Given the description of an element on the screen output the (x, y) to click on. 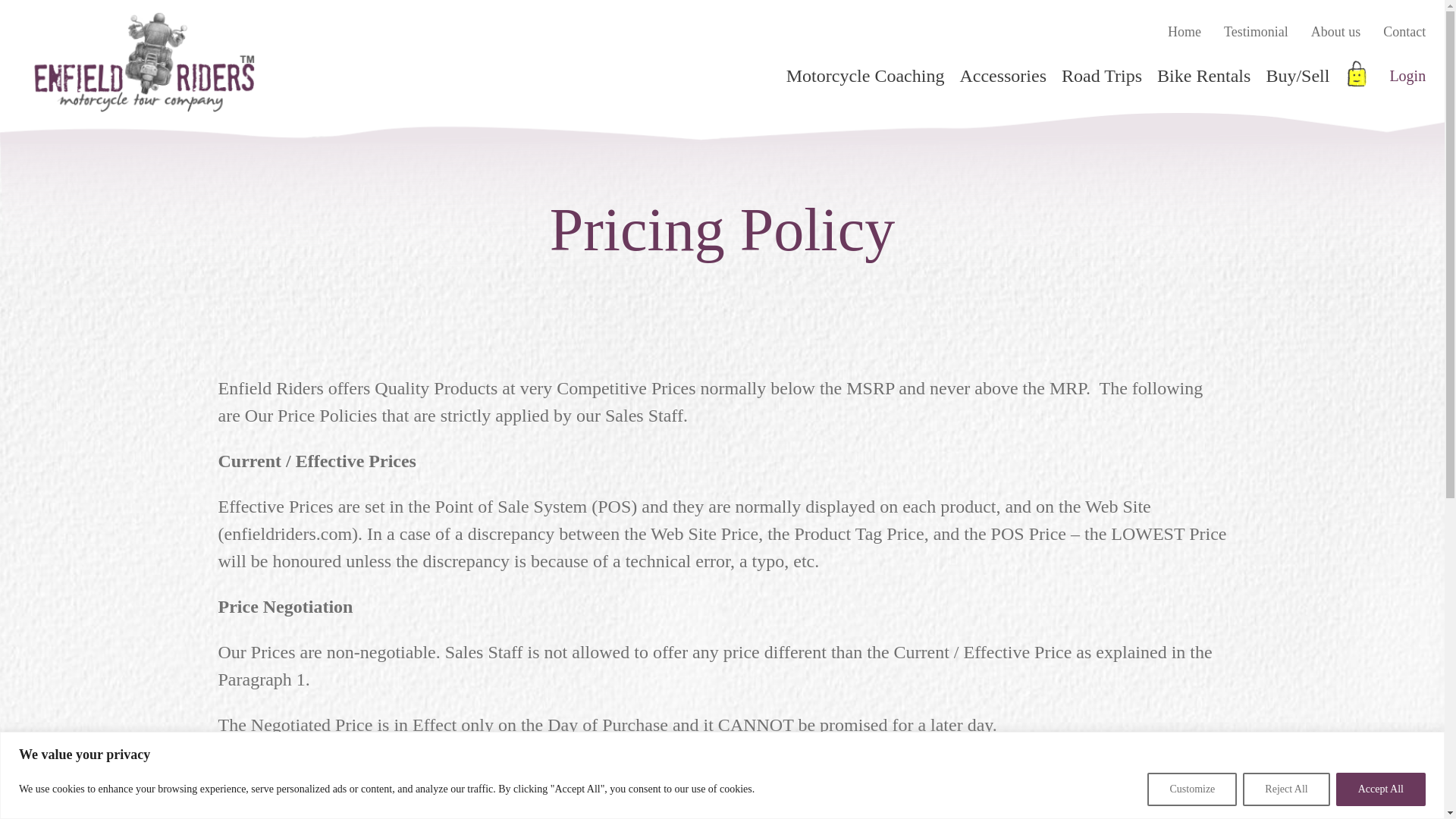
Testimonial (1256, 31)
Customize (1191, 788)
Road Trips (1093, 75)
Contact (1404, 31)
Reject All (1286, 788)
Accessories (994, 75)
Home (1184, 31)
About us (1336, 31)
Bike Rentals (1195, 75)
Login (1413, 75)
